Given the description of an element on the screen output the (x, y) to click on. 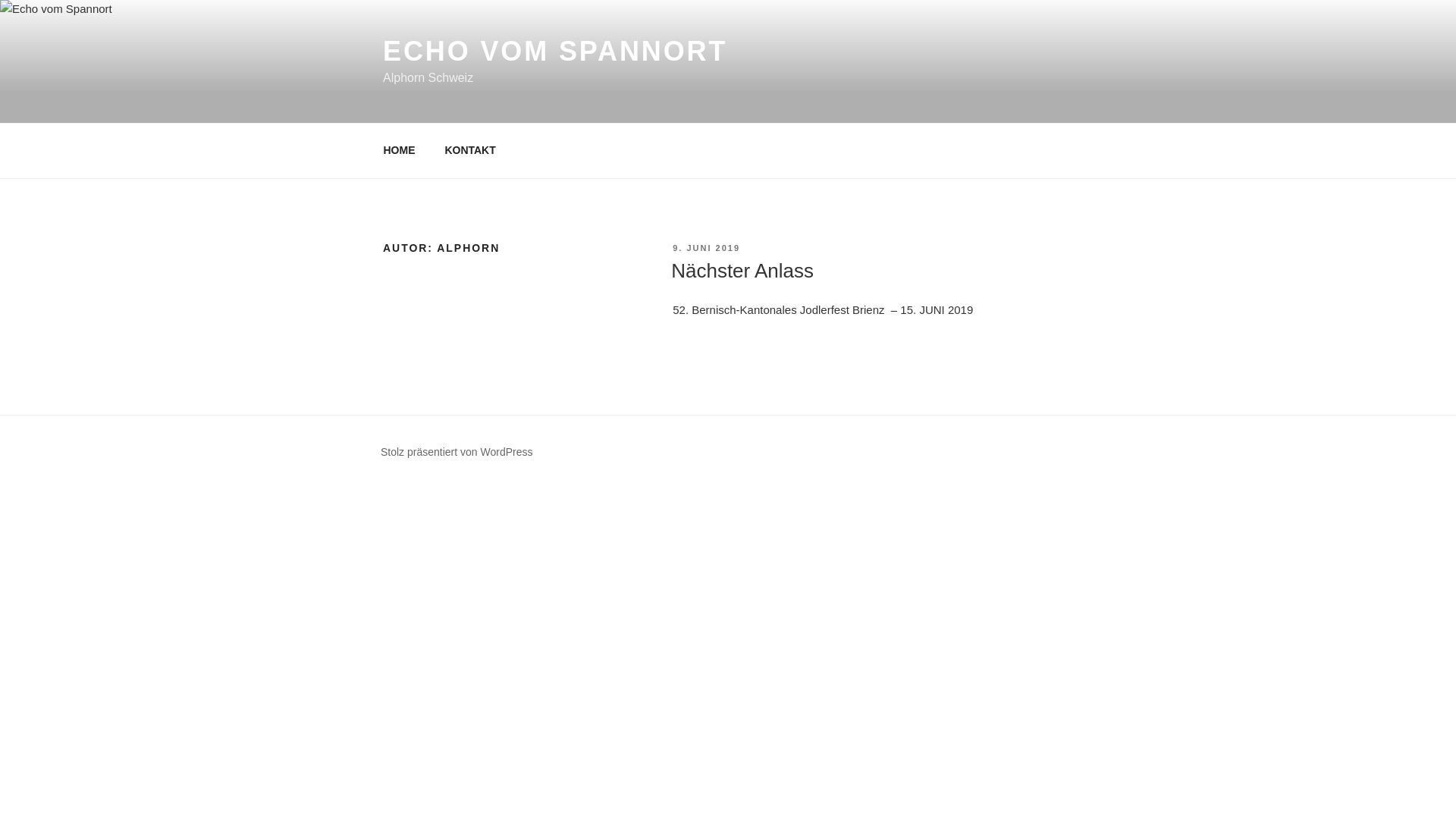
HOME Element type: text (399, 150)
Zum Inhalt springen Element type: text (0, 0)
KONTAKT Element type: text (469, 150)
ECHO VOM SPANNORT Element type: text (554, 50)
9. JUNI 2019 Element type: text (706, 247)
